Given the description of an element on the screen output the (x, y) to click on. 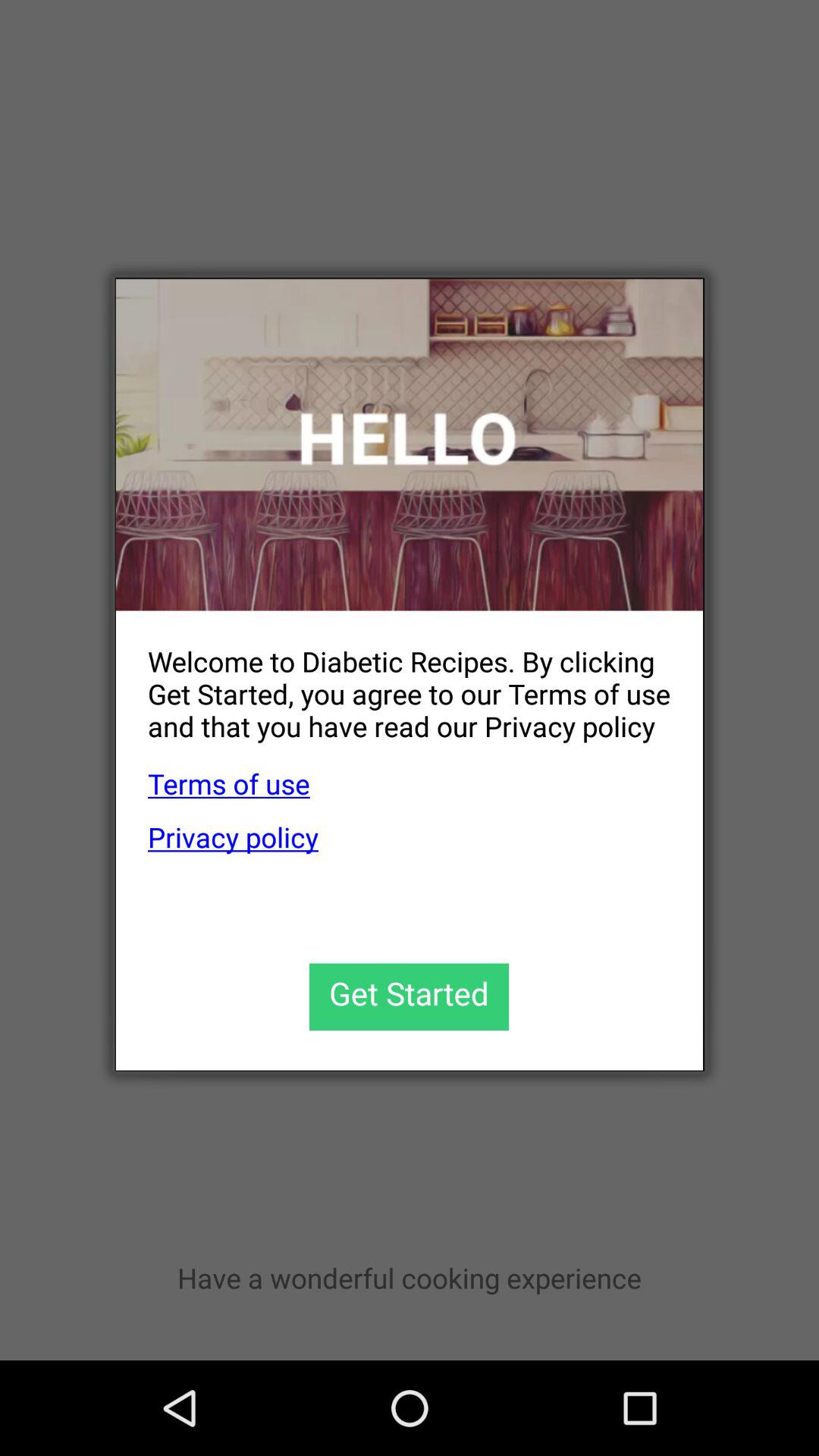
start (409, 996)
